Given the description of an element on the screen output the (x, y) to click on. 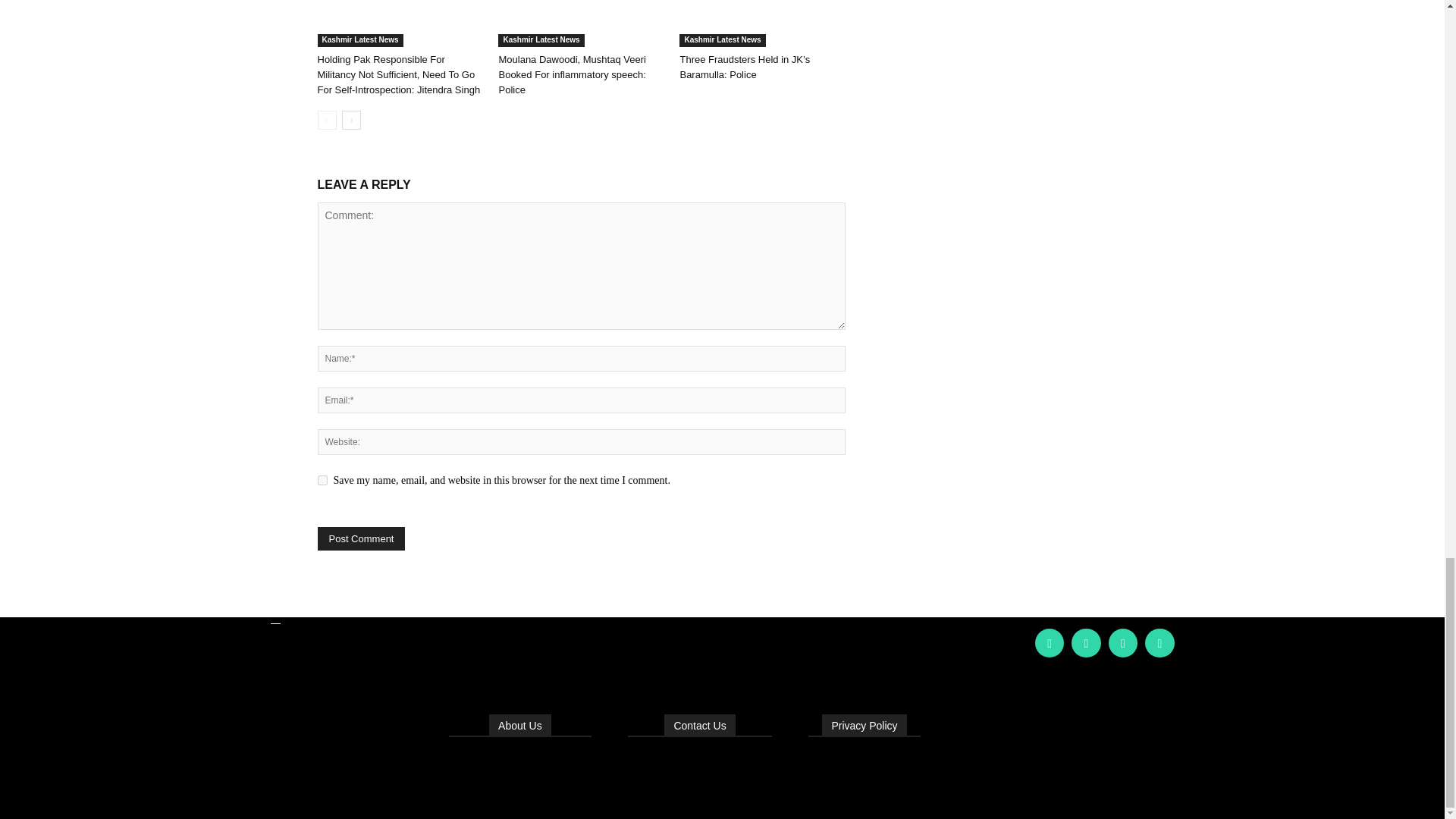
Post Comment (360, 538)
yes (321, 480)
